Given the description of an element on the screen output the (x, y) to click on. 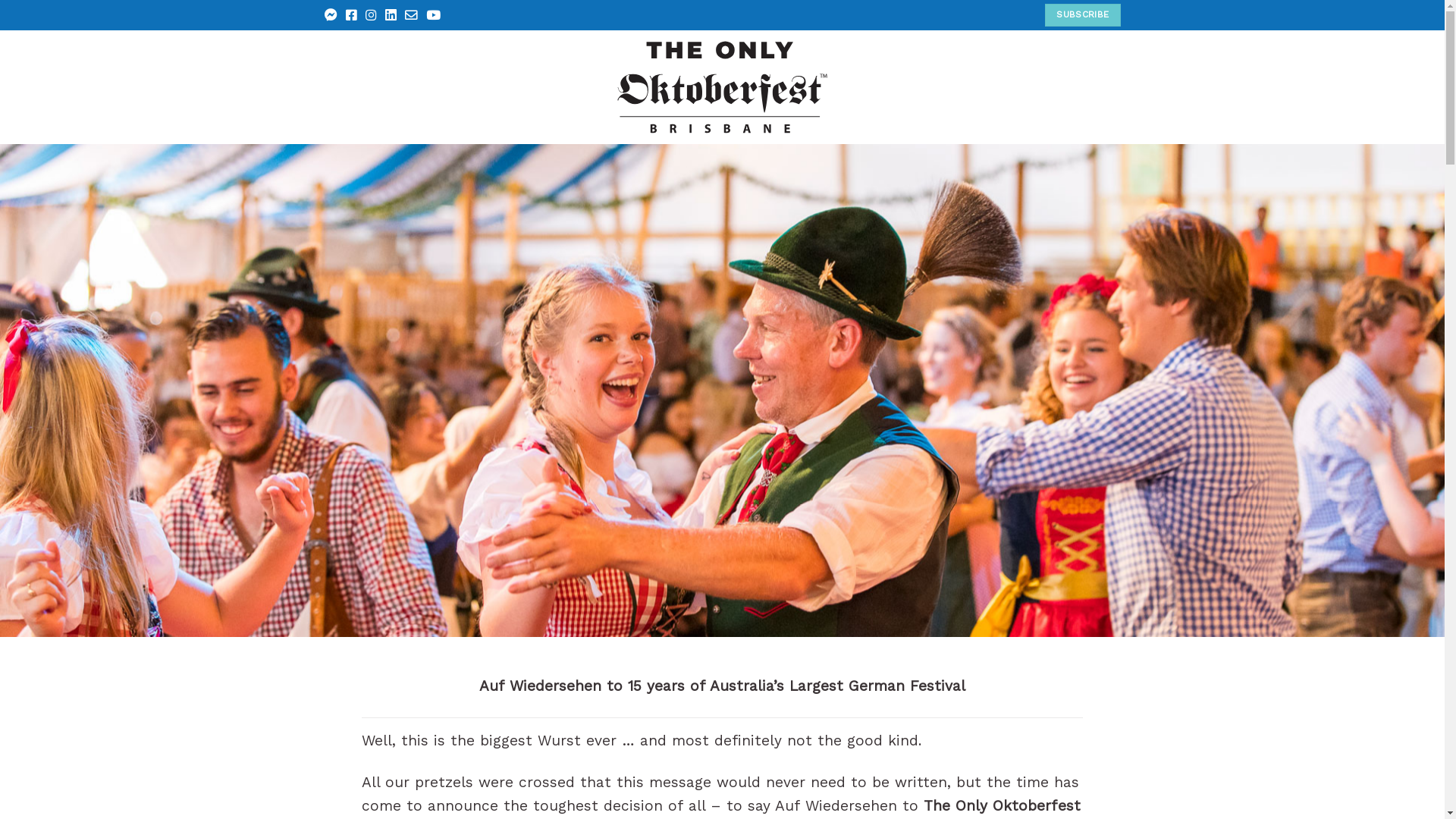
Oktoberfest Brisbane - The Only Oktoberfest Brisbane Element type: hover (721, 87)
Skip to content Element type: text (0, 0)
SUBSCRIBE Element type: text (1082, 14)
